Given the description of an element on the screen output the (x, y) to click on. 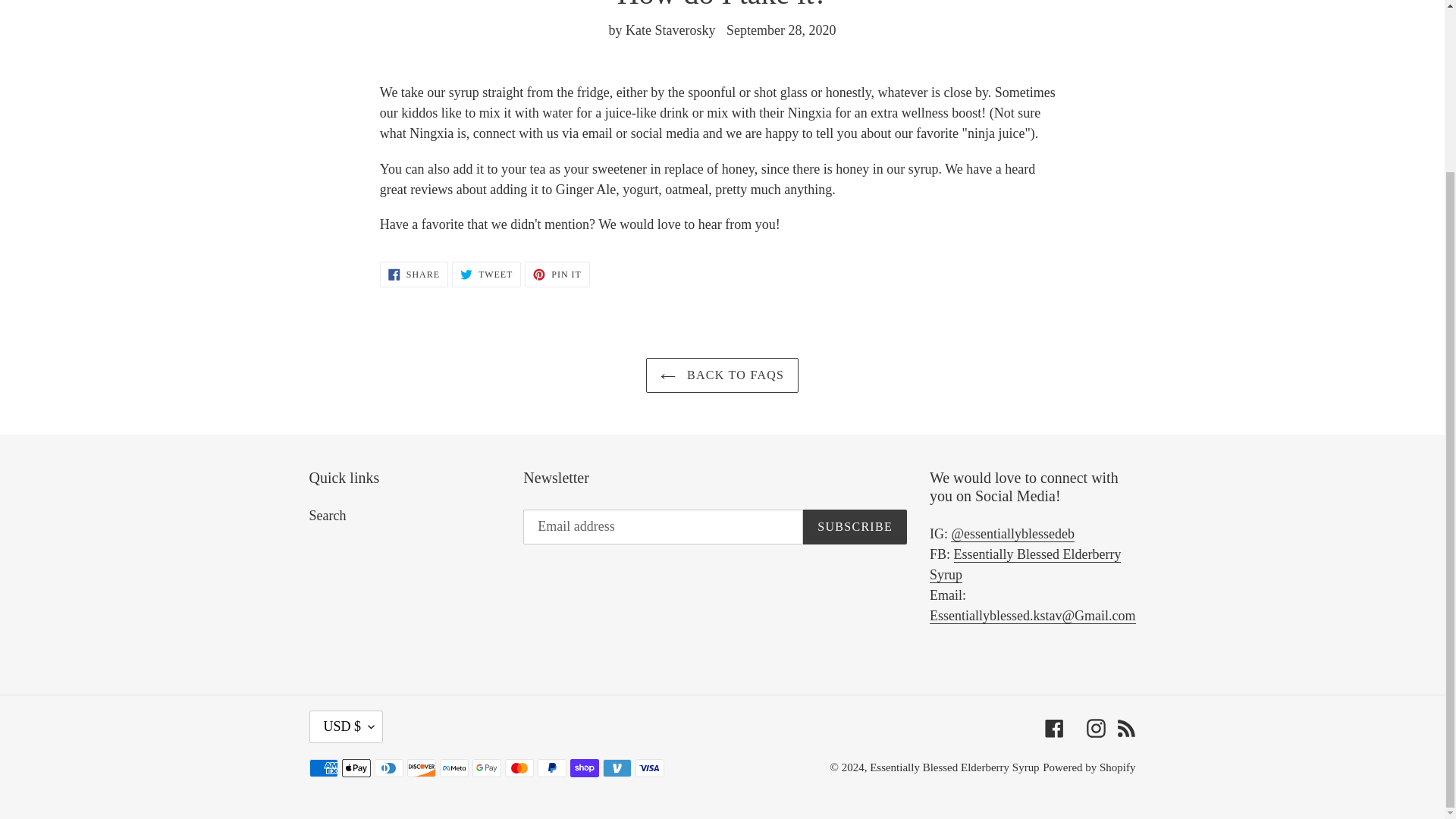
BACK TO FAQS (722, 375)
Essentially Blessed Elderberry Syrup (954, 767)
RSS (1125, 726)
SUBSCRIBE (855, 526)
Essentially Blessed Elderberry Syrup (1025, 565)
Instagram (486, 274)
Powered by Shopify (1095, 726)
